Given the description of an element on the screen output the (x, y) to click on. 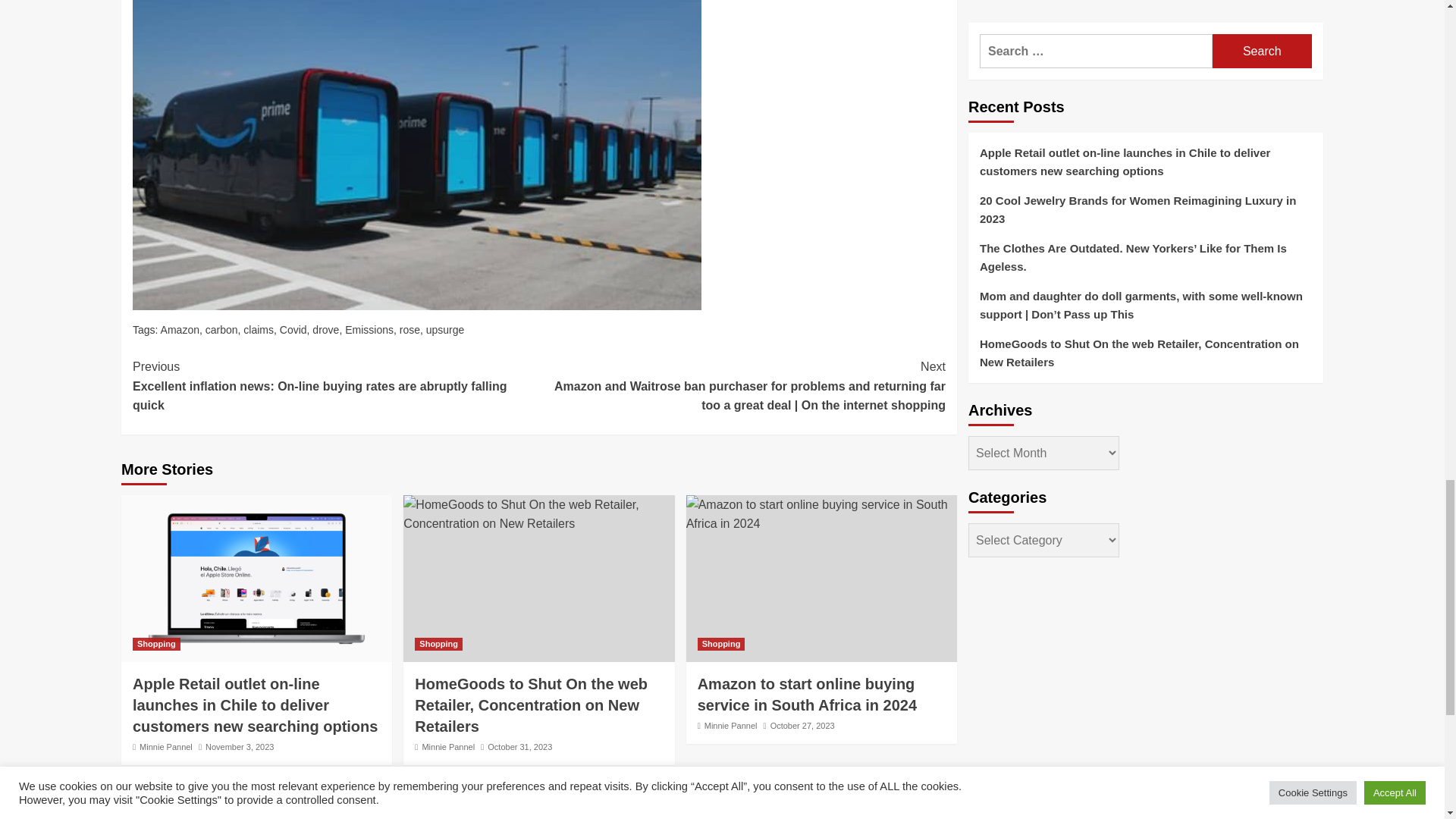
rose (409, 329)
claims (258, 329)
Amazon (179, 329)
upsurge (445, 329)
November 3, 2023 (240, 746)
Emissions (369, 329)
Minnie Pannel (165, 746)
